Given the description of an element on the screen output the (x, y) to click on. 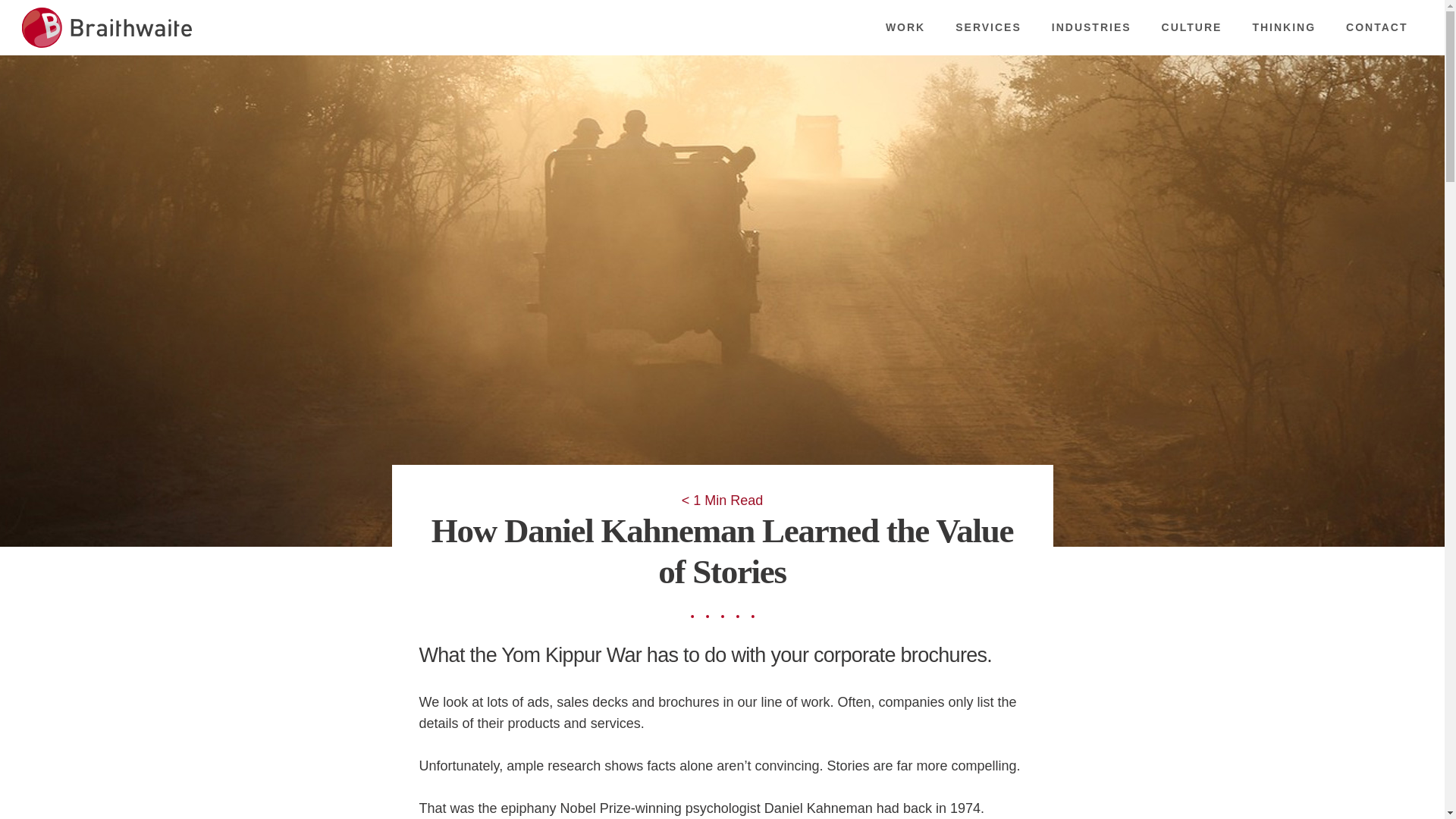
CONTACT (1376, 26)
CULTURE (1192, 26)
INDUSTRIES (1091, 26)
THINKING (1284, 26)
WORK (904, 26)
SERVICES (988, 26)
